Given the description of an element on the screen output the (x, y) to click on. 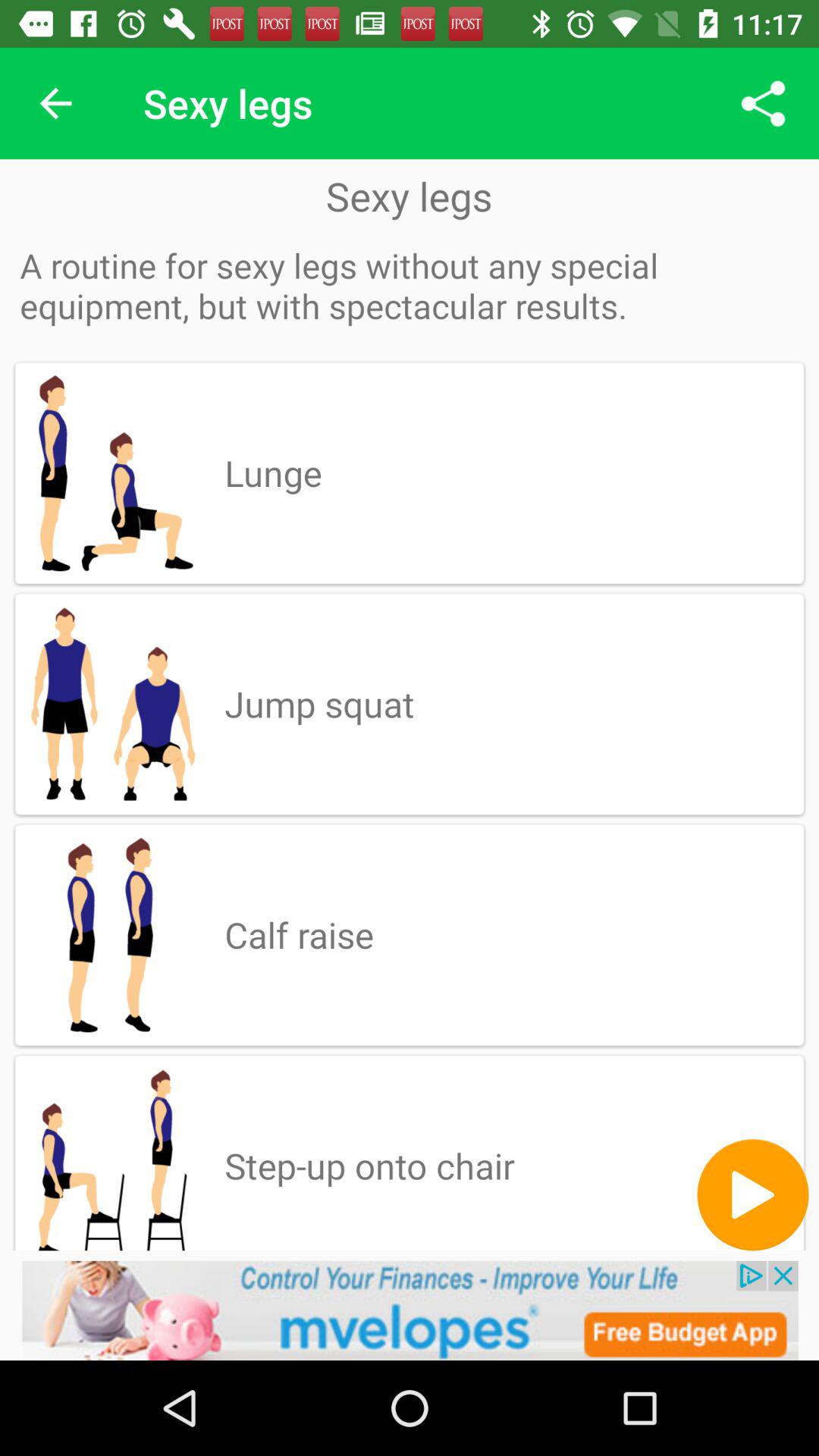
mvelopes advertisement (409, 1310)
